Given the description of an element on the screen output the (x, y) to click on. 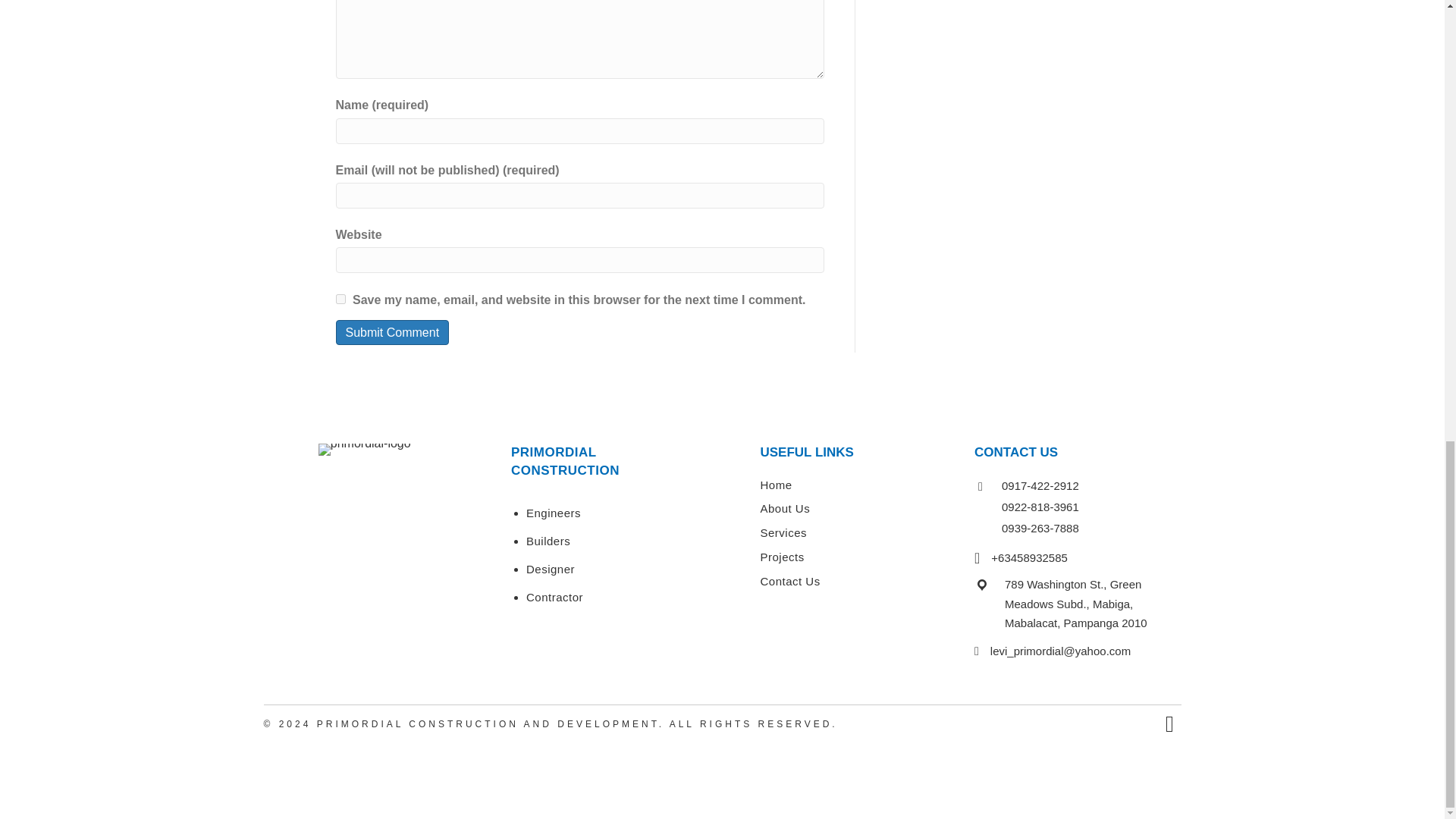
Services (783, 532)
Contact Us (789, 581)
Submit Comment (391, 332)
Projects (781, 556)
About Us (784, 508)
Home (776, 484)
Submit Comment (391, 332)
yes (339, 298)
primordial-logo (364, 449)
